Given the description of an element on the screen output the (x, y) to click on. 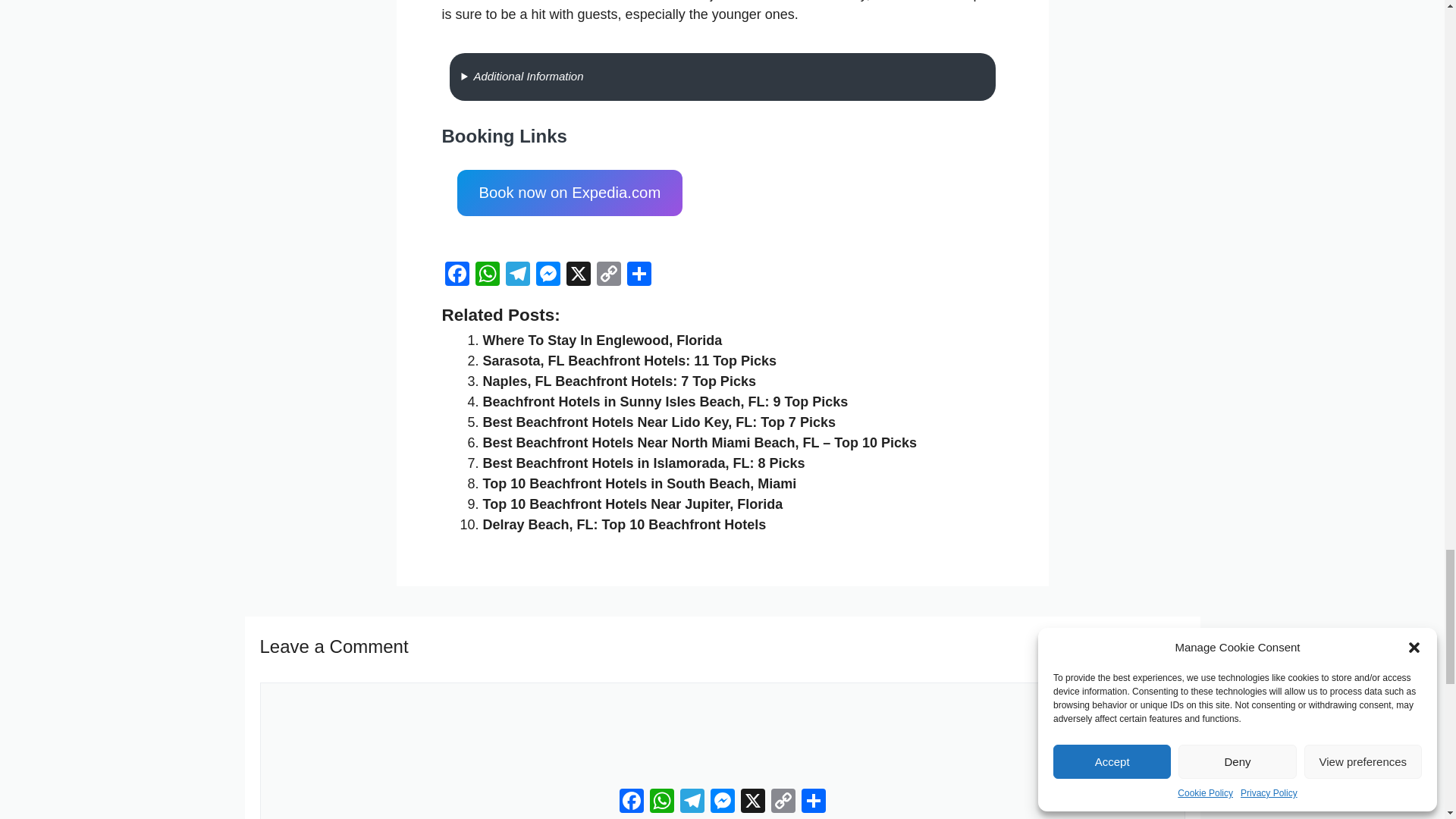
X (577, 275)
Sarasota, FL Beachfront Hotels: 11 Top Picks (628, 360)
Best Beachfront Hotels in Islamorada, FL: 8 Picks (643, 462)
Delray Beach, FL: Top 10 Beachfront Hotels (623, 524)
Copy Link (607, 275)
Where To Stay In Englewood, Florida (601, 340)
Telegram (517, 275)
Naples, FL Beachfront Hotels: 7 Top Picks (618, 381)
Best Beachfront Hotels Near Lido Key, FL: Top 7 Picks (657, 421)
Beachfront Hotels in Sunny Isles Beach, FL: 9 Top Picks (664, 401)
